Given the description of an element on the screen output the (x, y) to click on. 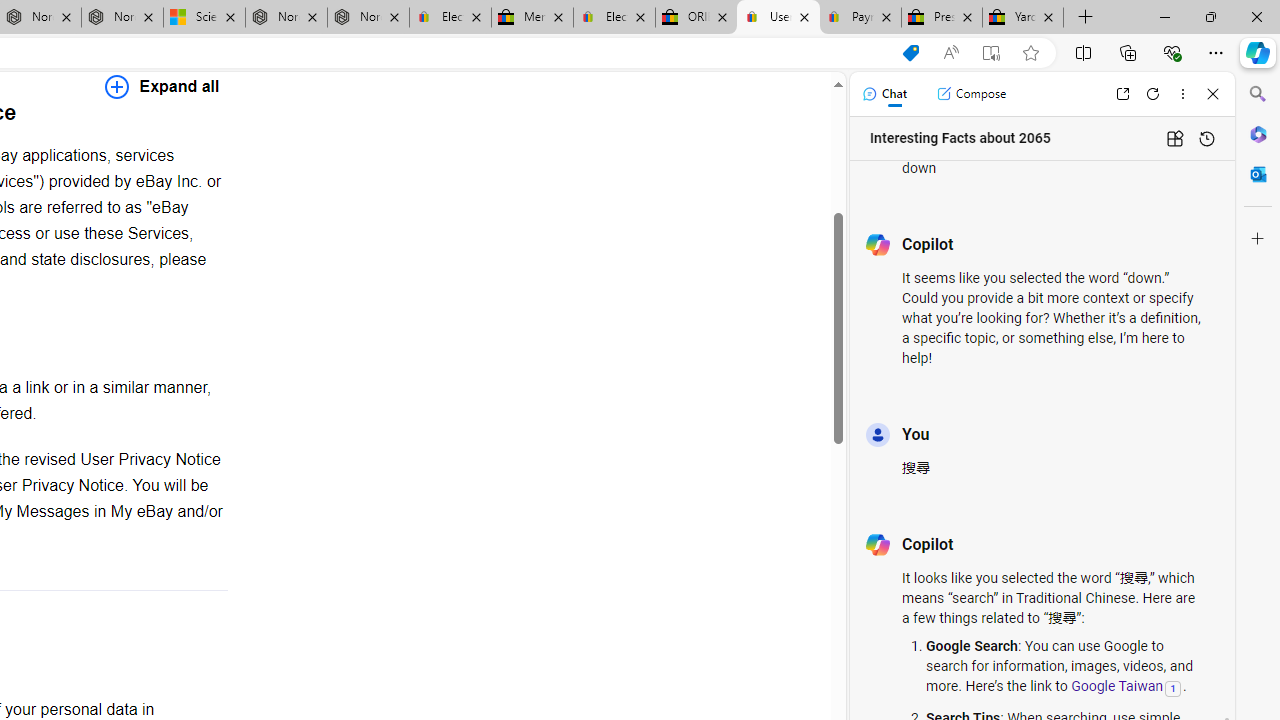
This site has coupons! Shopping in Microsoft Edge (910, 53)
Payments Terms of Use | eBay.com (860, 17)
